Given the description of an element on the screen output the (x, y) to click on. 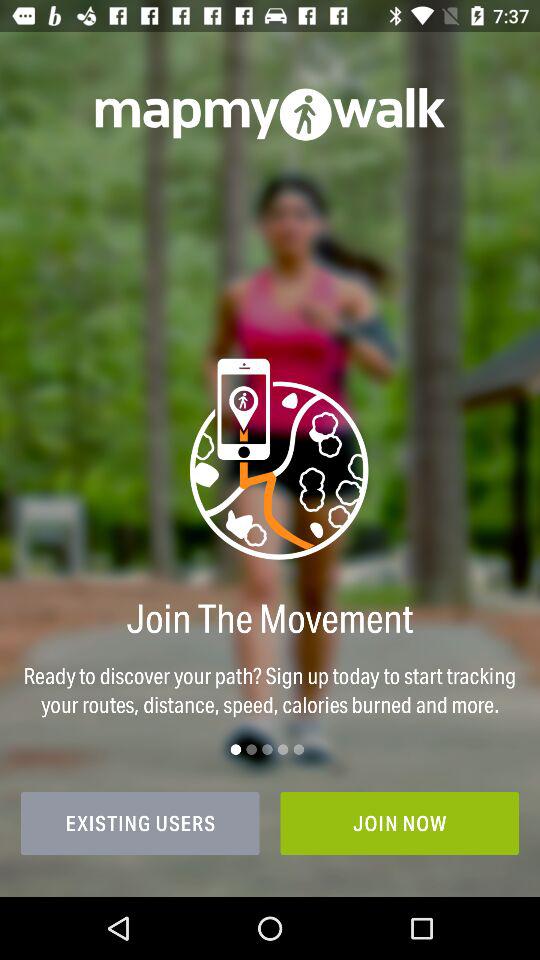
flip to the join now (399, 823)
